Given the description of an element on the screen output the (x, y) to click on. 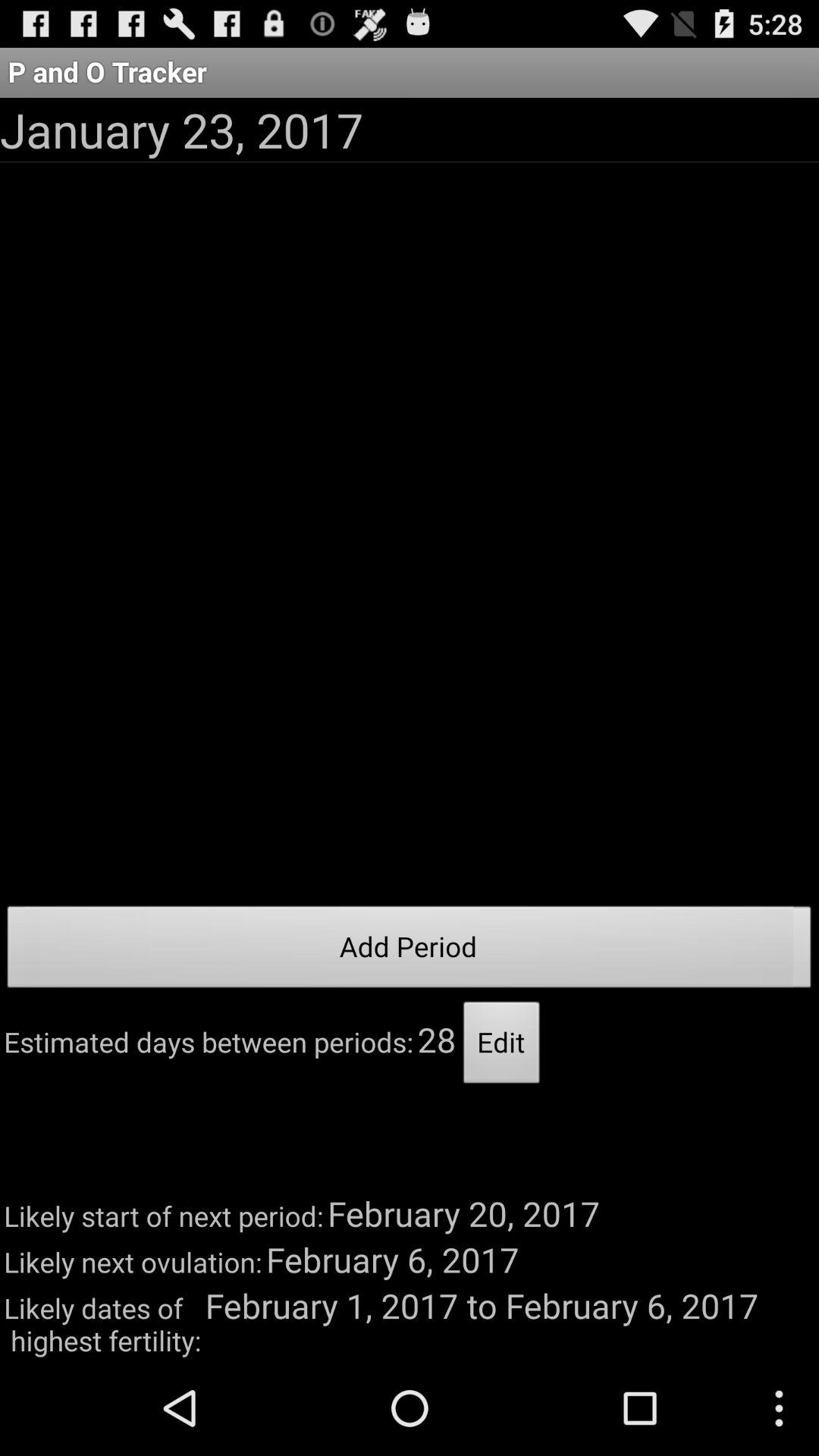
press the icon below the january 23, 2017 icon (409, 951)
